Given the description of an element on the screen output the (x, y) to click on. 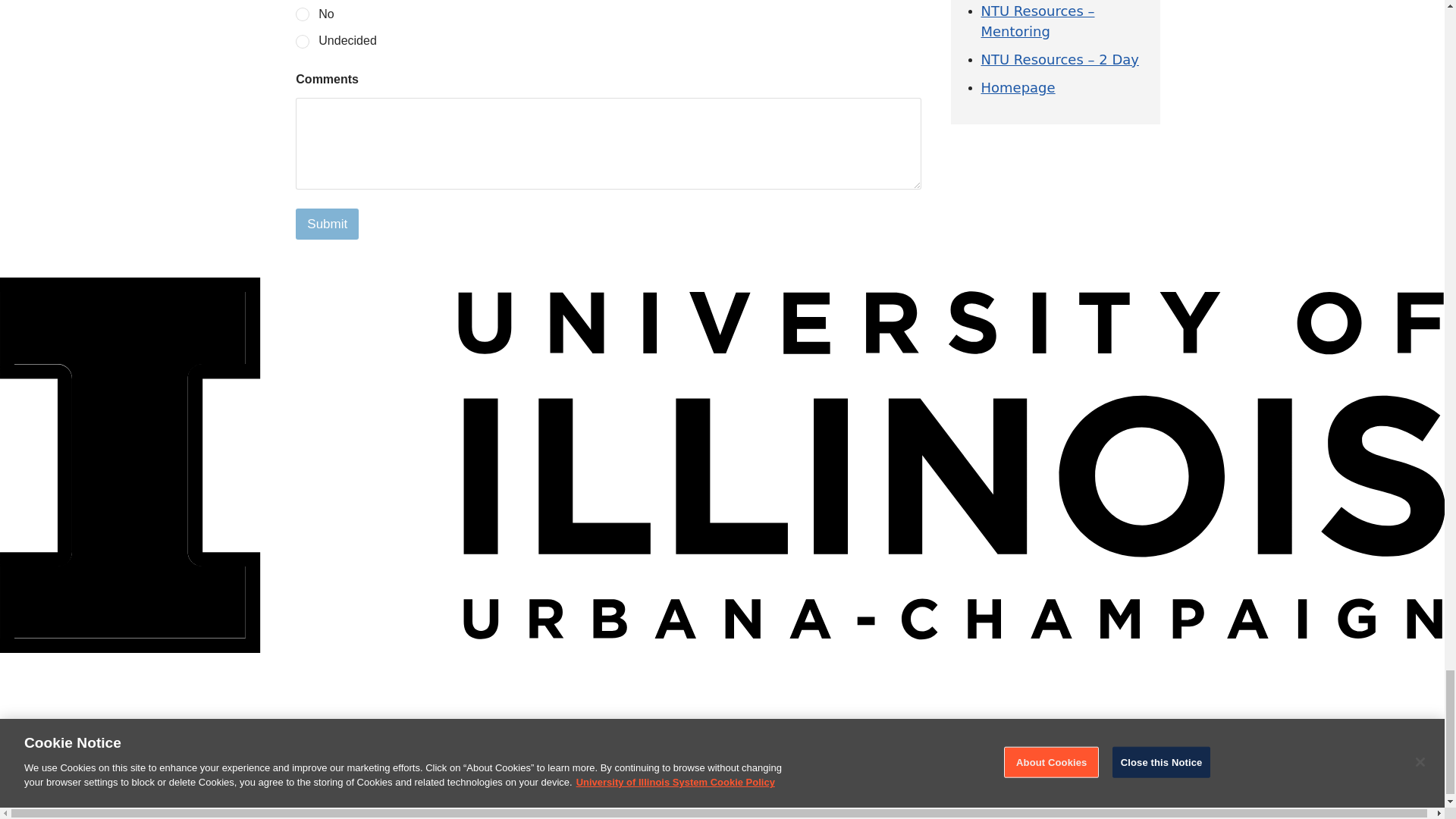
No (302, 15)
Undecided (302, 42)
